Given the description of an element on the screen output the (x, y) to click on. 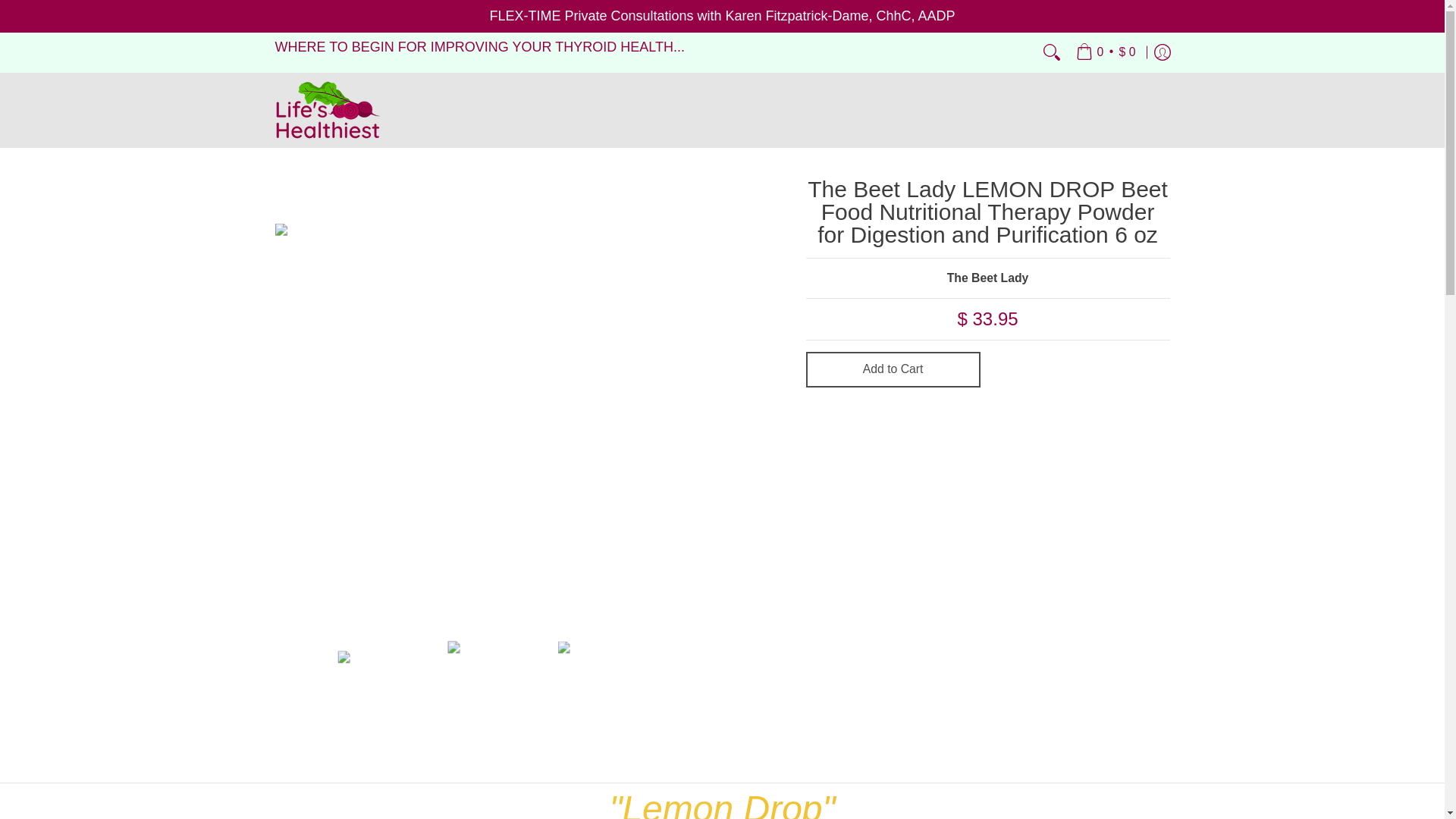
WHERE TO BEGIN FOR IMPROVING YOUR THYROID HEALTH... (479, 46)
Life's Healthiest (327, 109)
Log in (1161, 51)
Search (1051, 51)
Skip to Main Content (2, 9)
Where To Begin For Improving Your Thyroid Health... (479, 46)
Cart (1105, 51)
Skip to Main Content (2, 9)
